Given the description of an element on the screen output the (x, y) to click on. 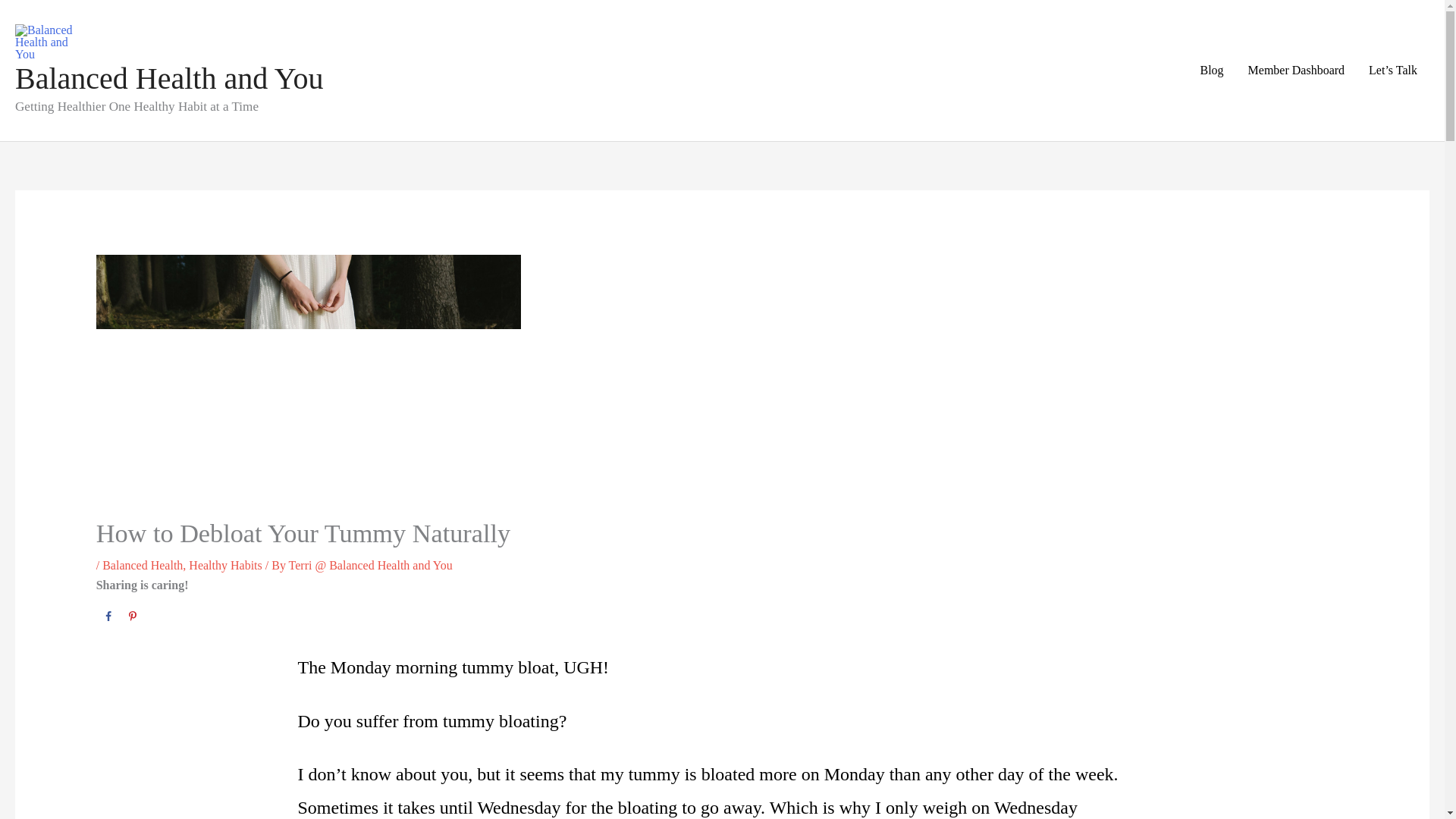
Member Dashboard (1296, 70)
Save to Pinterest (132, 616)
Share on Facebook (108, 616)
Balanced Health and You (168, 78)
Balanced Health (142, 564)
Healthy Habits (225, 564)
Blog (1211, 70)
